Given the description of an element on the screen output the (x, y) to click on. 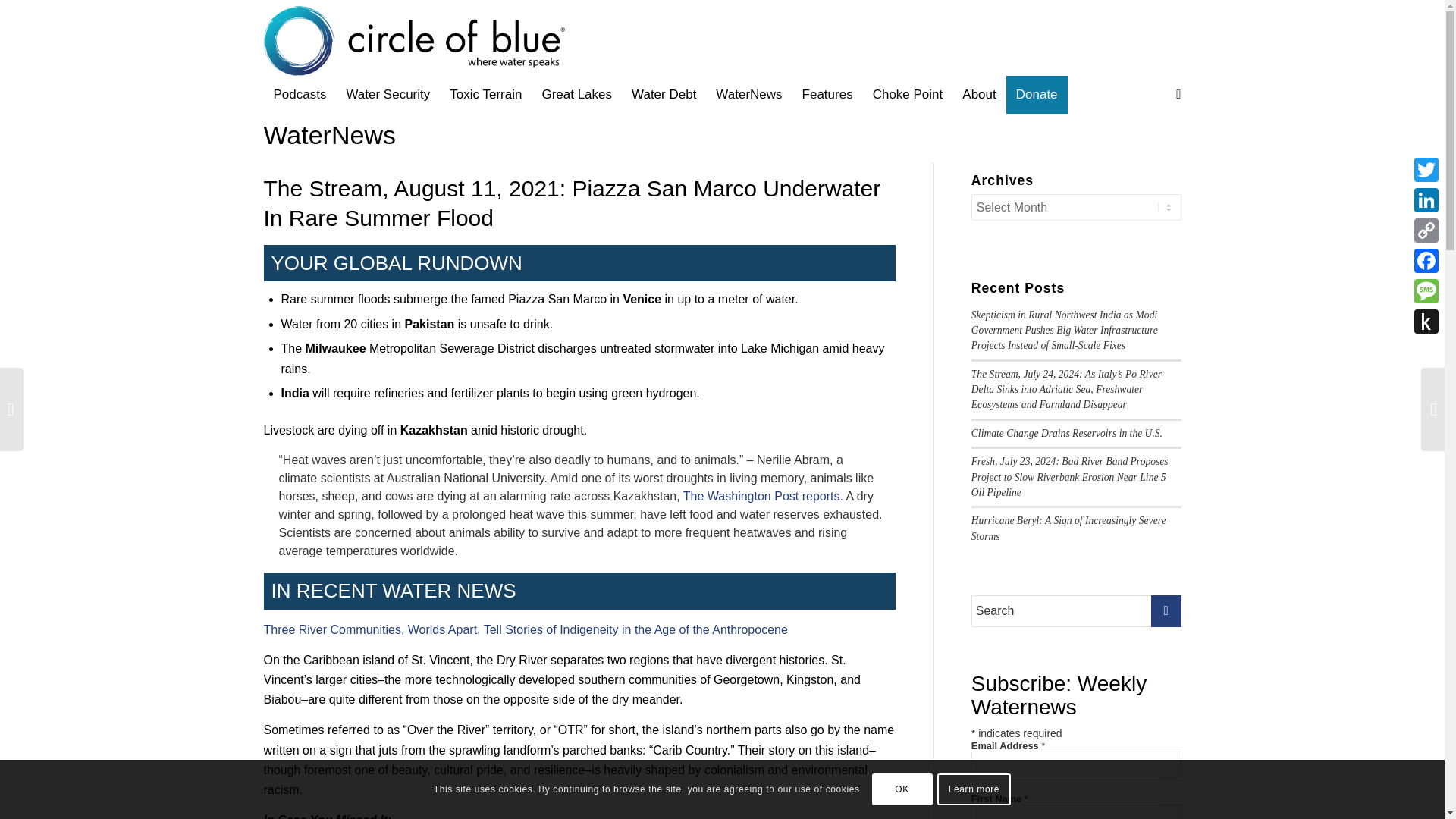
WaterNews (749, 94)
Water Security (387, 94)
Twitter (1425, 169)
LinkedIn (1425, 200)
Toxic Terrain (485, 94)
Features (827, 94)
Water Debt (663, 94)
Podcasts (299, 94)
Great Lakes (576, 94)
Permanent Link: WaterNews (329, 125)
